Given the description of an element on the screen output the (x, y) to click on. 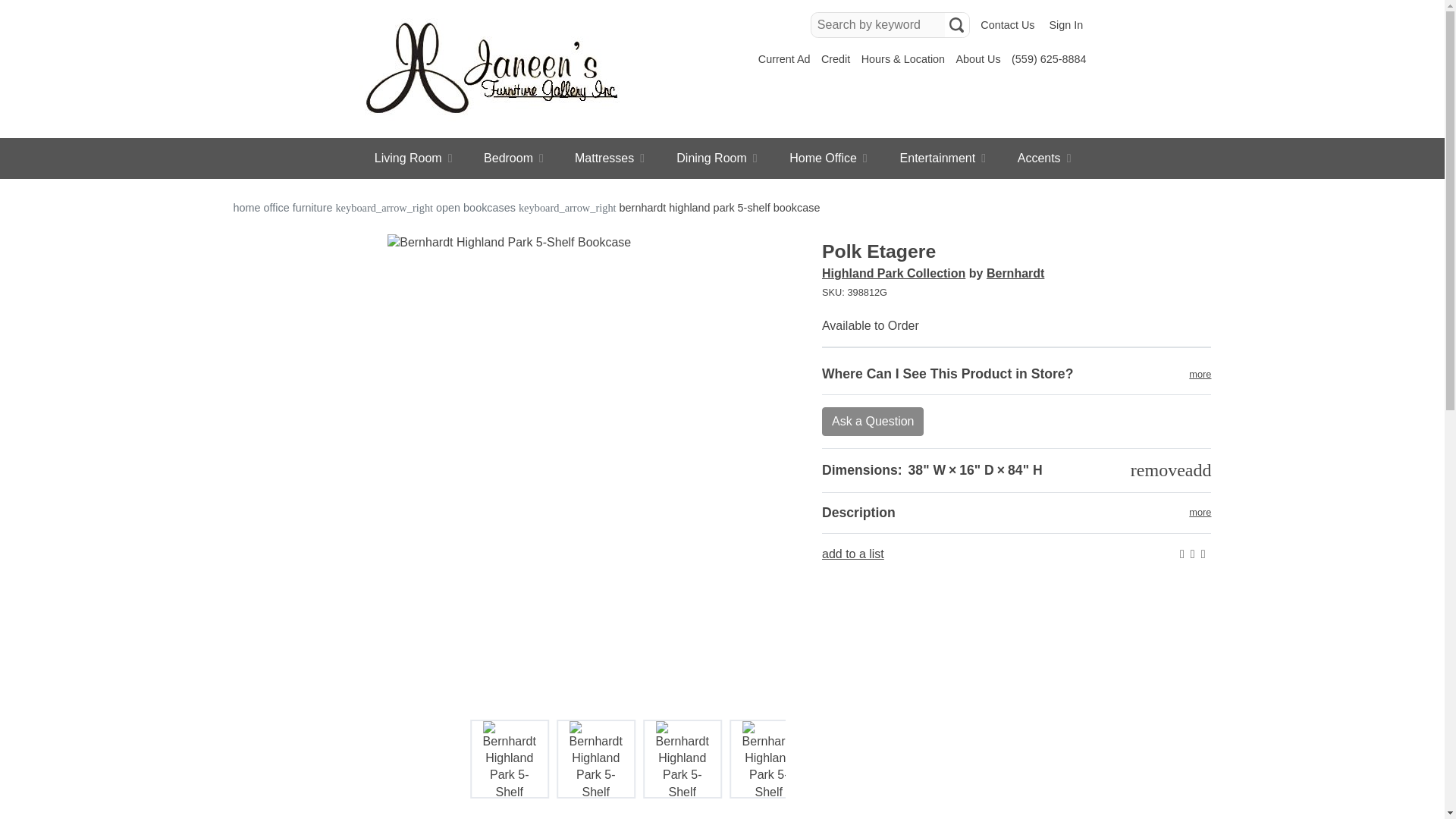
This item is available to order from the manufacturer. (870, 325)
Sign In (1065, 25)
About Us (977, 59)
Credit (835, 59)
Current Ad (784, 59)
Contact Us (1007, 25)
Living Room (412, 158)
398812G (1016, 292)
Bedroom (513, 158)
